Given the description of an element on the screen output the (x, y) to click on. 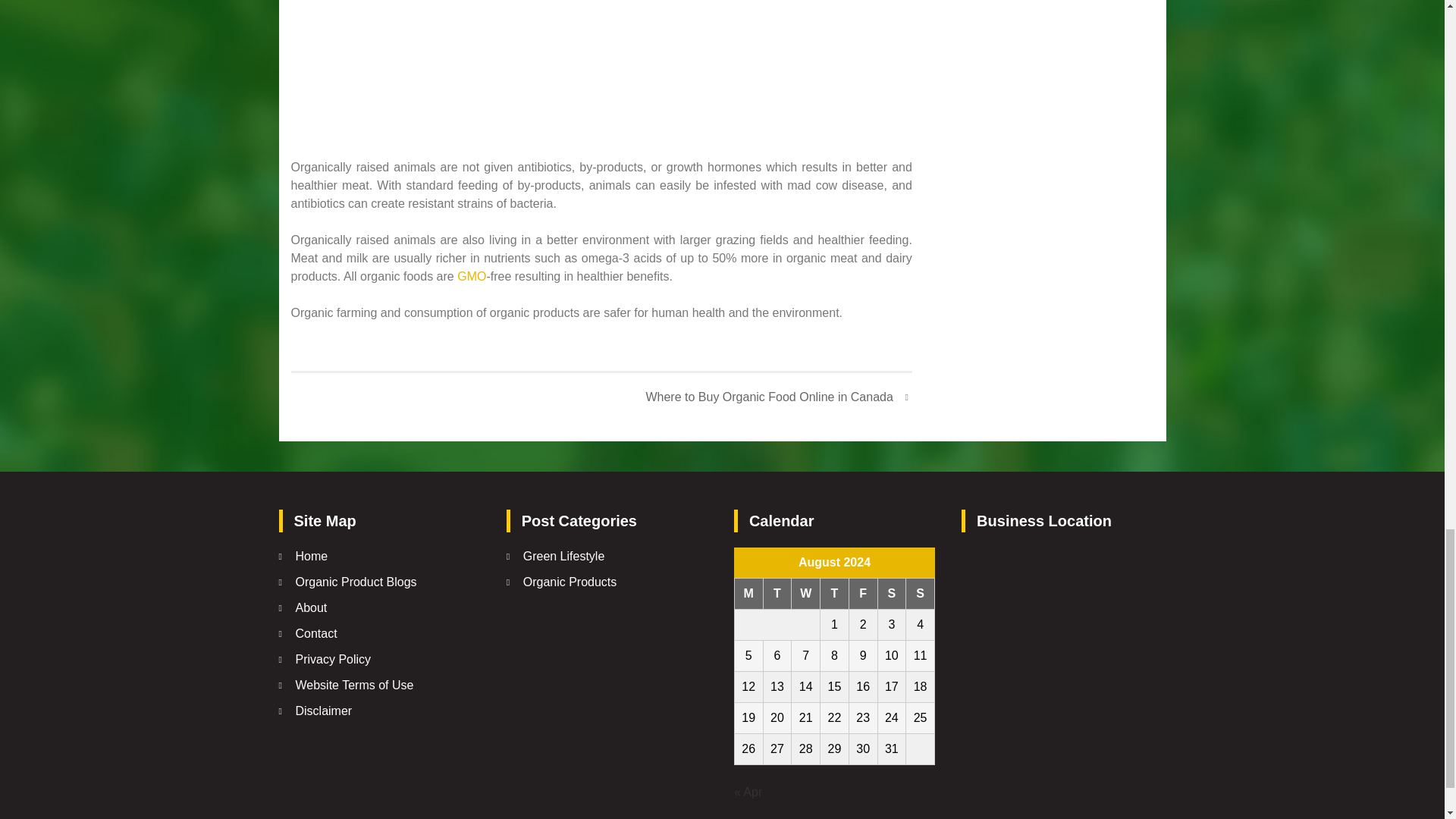
Wednesday (806, 593)
Tuesday (777, 593)
GMO (471, 276)
Monday (747, 593)
Where to Buy Organic Food Online in Canada (778, 397)
Friday (862, 593)
Thursday (834, 593)
Saturday (891, 593)
Sunday (919, 593)
